Given the description of an element on the screen output the (x, y) to click on. 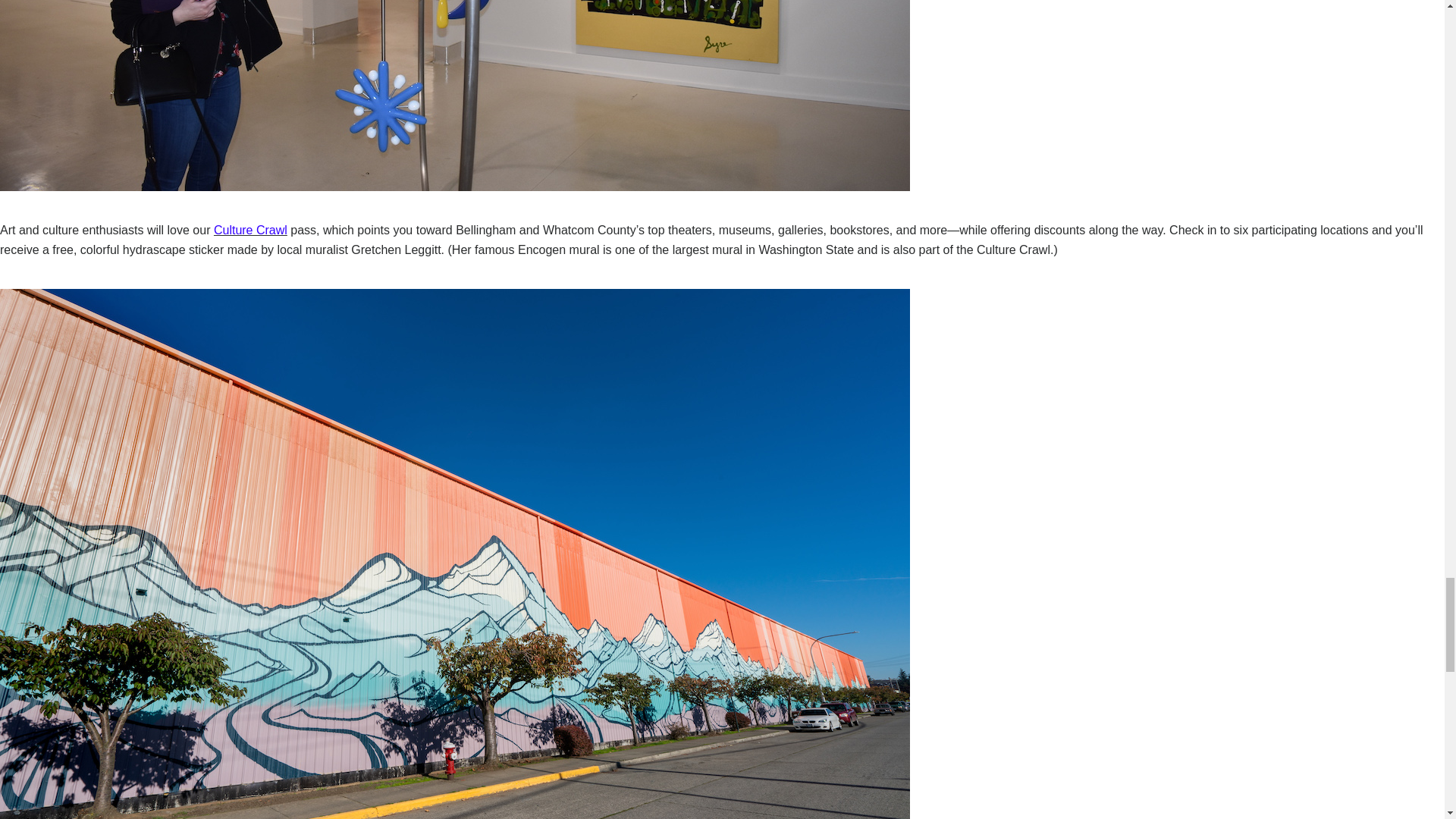
Culture Crawl (250, 229)
